Given the description of an element on the screen output the (x, y) to click on. 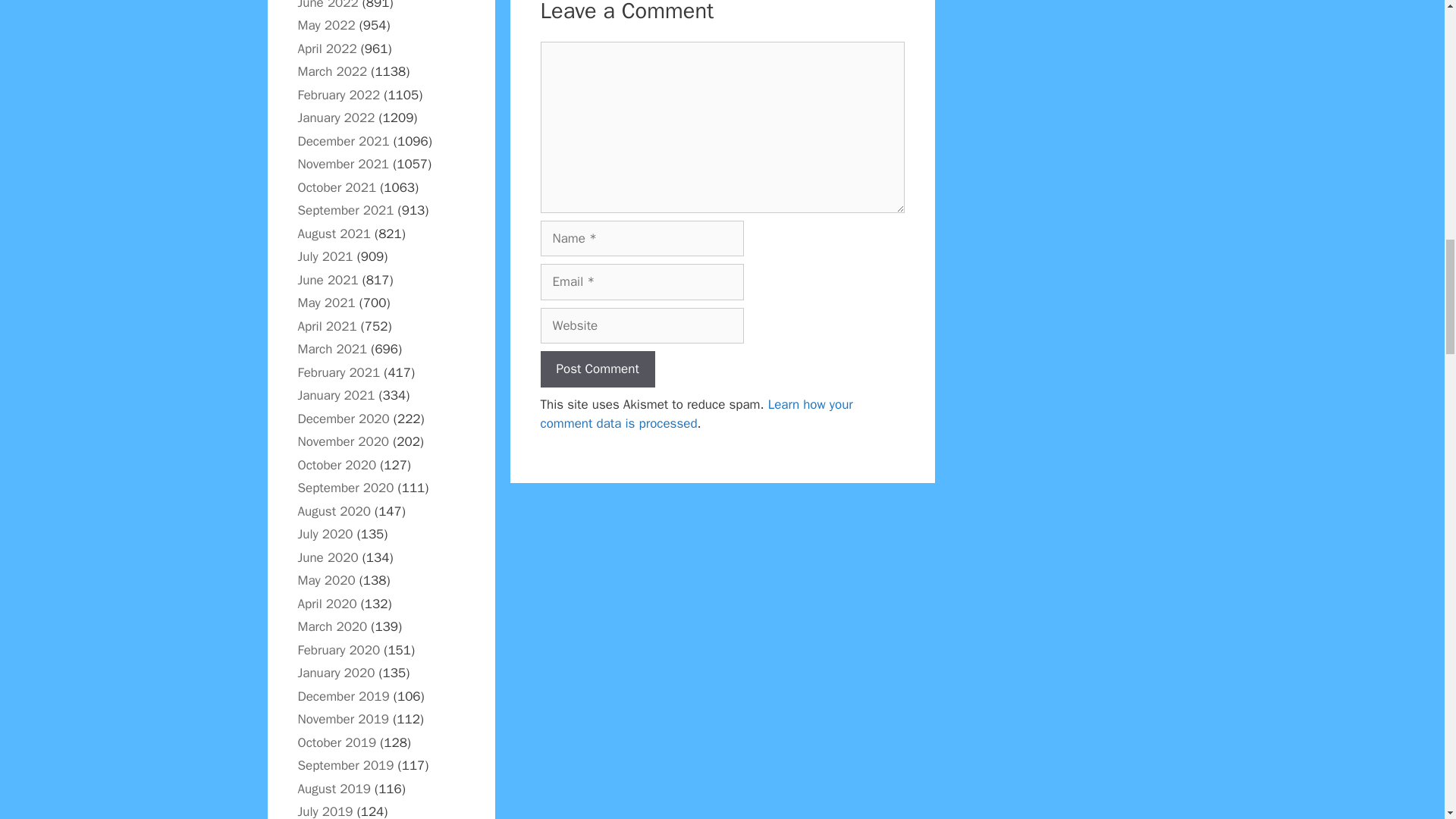
Post Comment (596, 369)
Post Comment (596, 369)
